Given the description of an element on the screen output the (x, y) to click on. 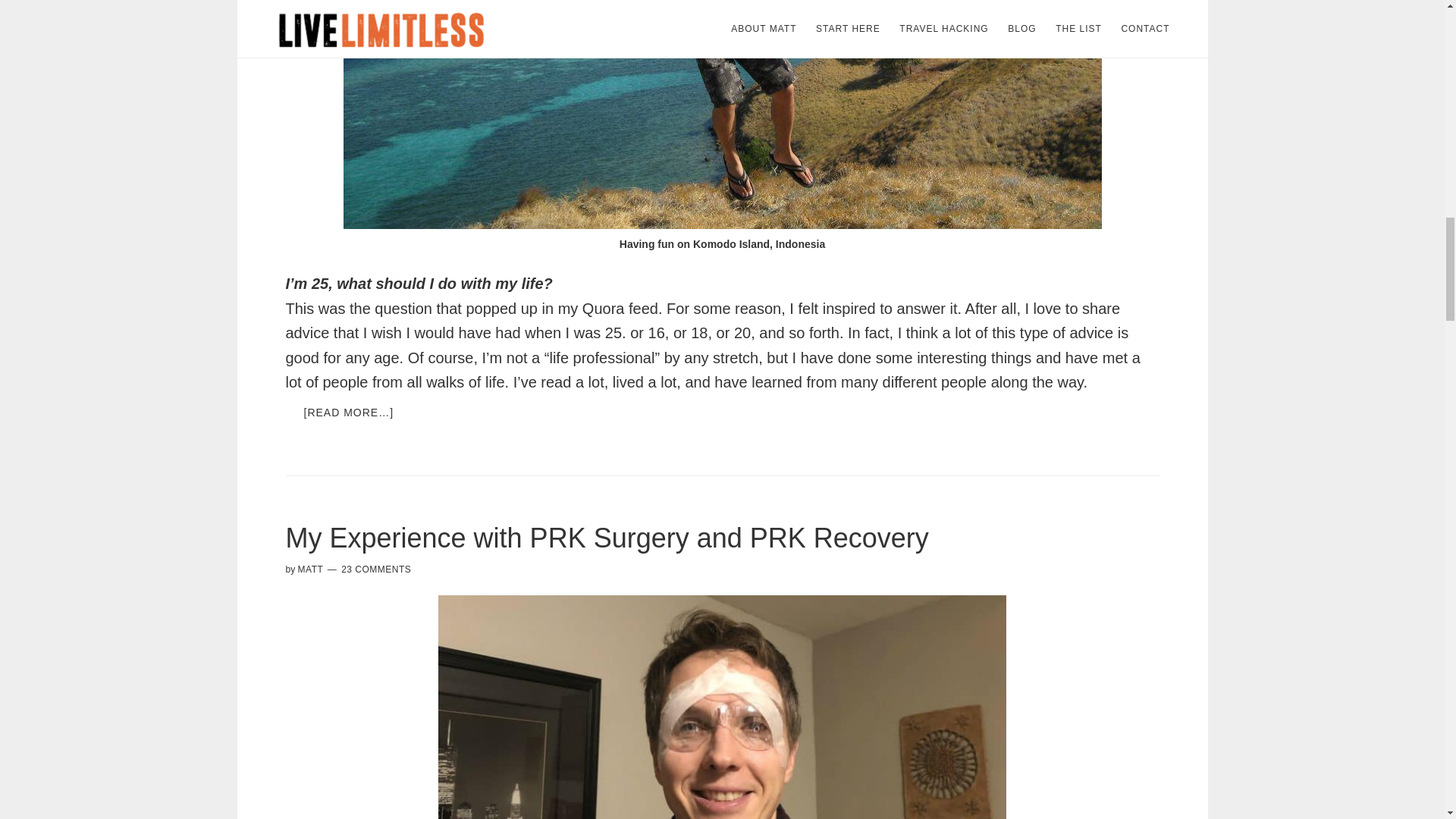
23 COMMENTS (375, 569)
inspired to answer it (890, 308)
my Quora feed (607, 308)
My Experience with PRK Surgery and PRK Recovery (606, 537)
MATT (310, 569)
